Given the description of an element on the screen output the (x, y) to click on. 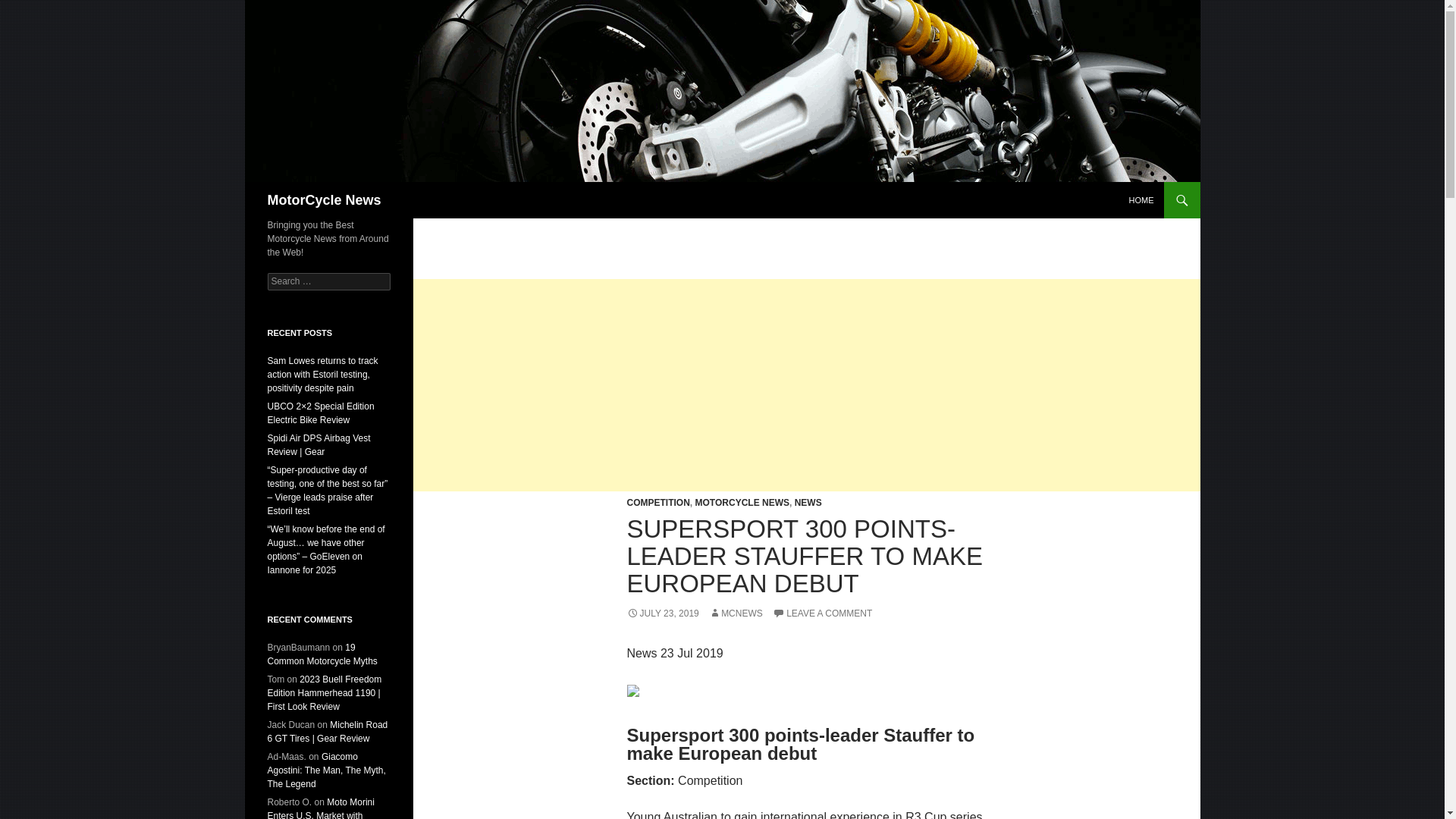
MOTORCYCLE NEWS (742, 502)
Search (30, 8)
19 Common Motorcycle Myths (321, 654)
NEWS (808, 502)
MotorCycle News (323, 199)
MCNEWS (735, 613)
HOME (1140, 199)
Giacomo Agostini: The Man, The Myth, The Legend (325, 770)
